Given the description of an element on the screen output the (x, y) to click on. 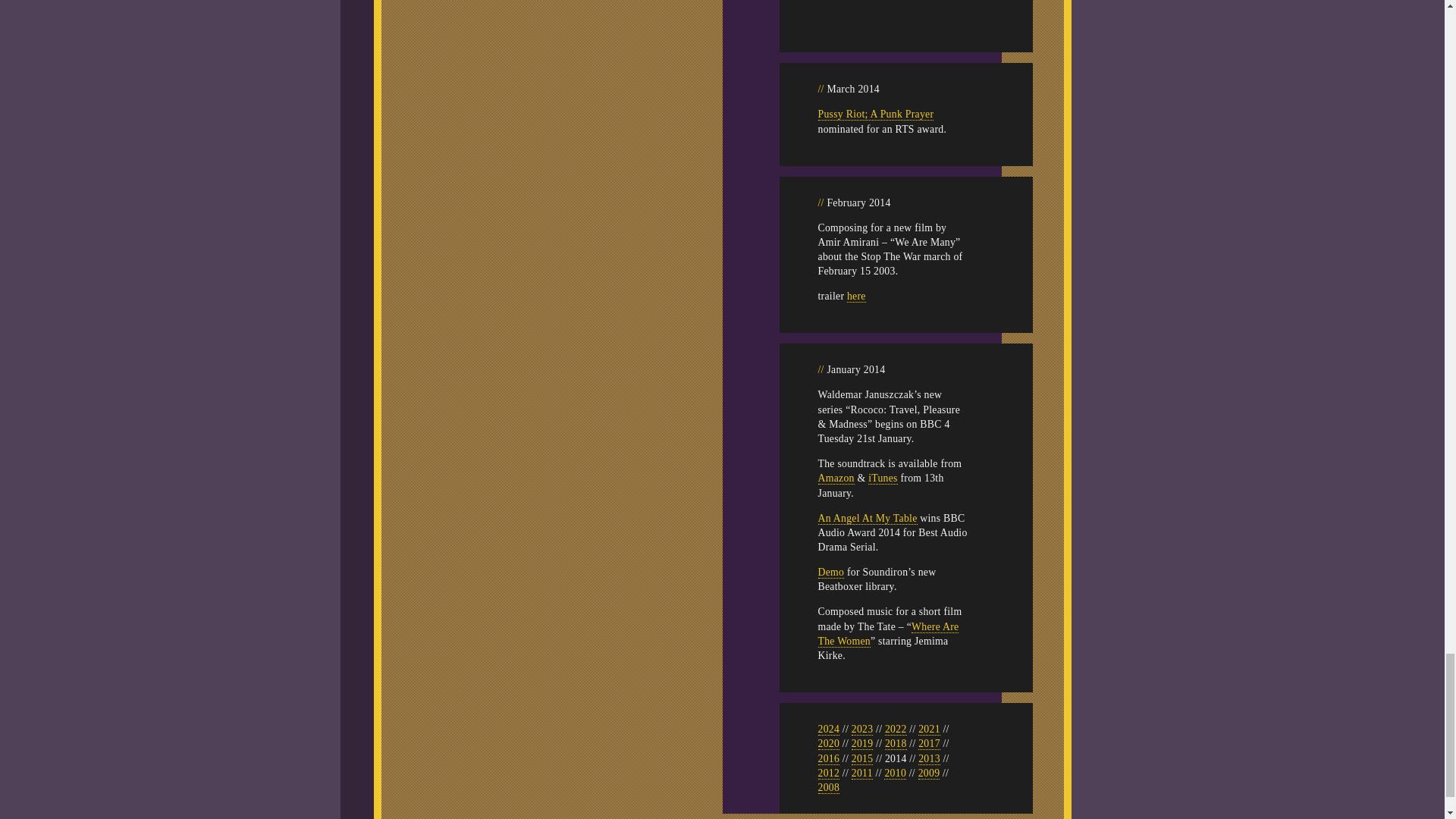
An Angel At My Table (866, 517)
Demo (830, 572)
Amazon (834, 478)
Pussy Riot; A Punk Prayer (874, 114)
iTunes (882, 478)
here (856, 296)
2024 (828, 729)
Where Are The Women (887, 633)
